Given the description of an element on the screen output the (x, y) to click on. 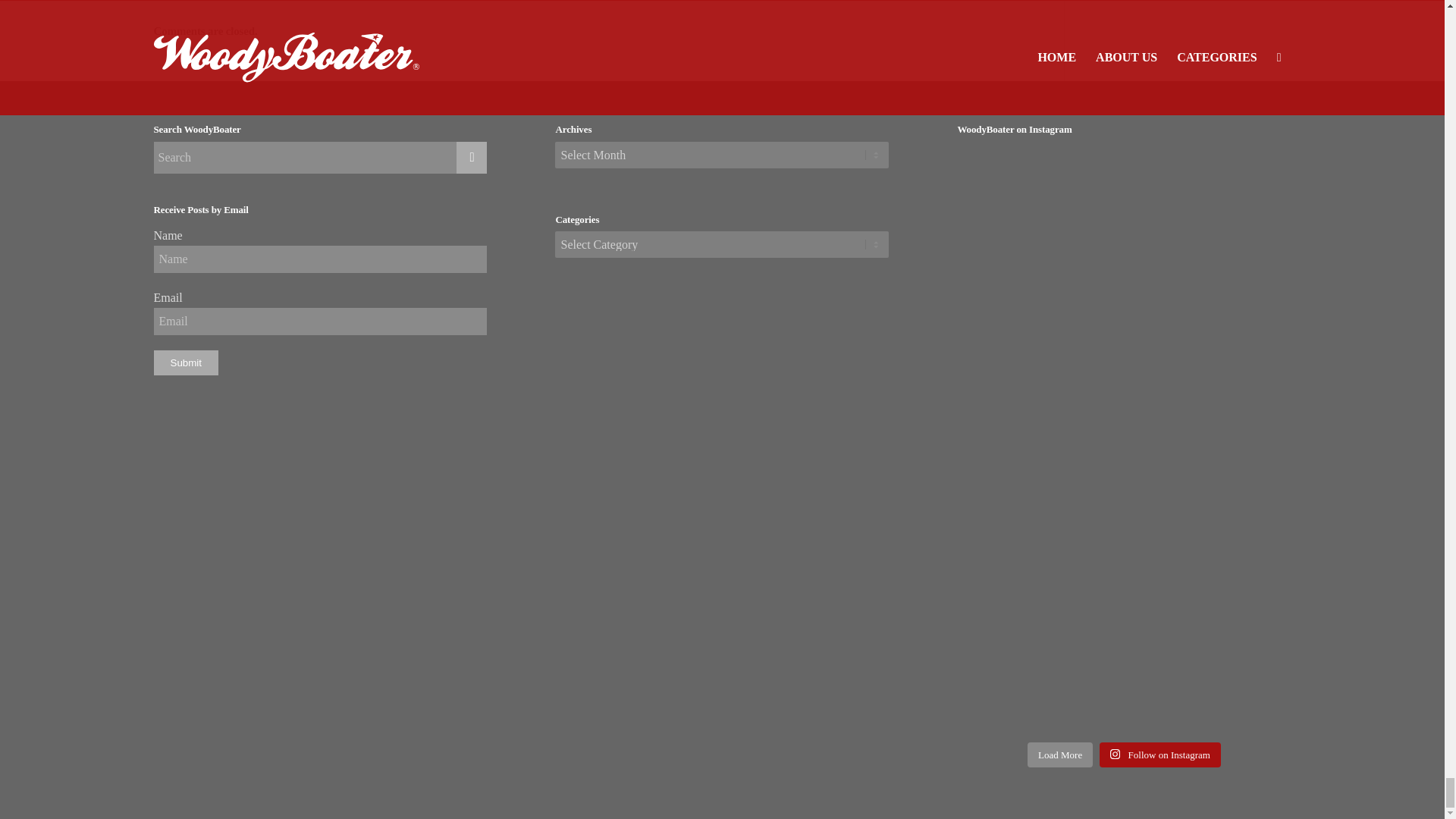
Submit (184, 362)
Click to start search (471, 157)
